Given the description of an element on the screen output the (x, y) to click on. 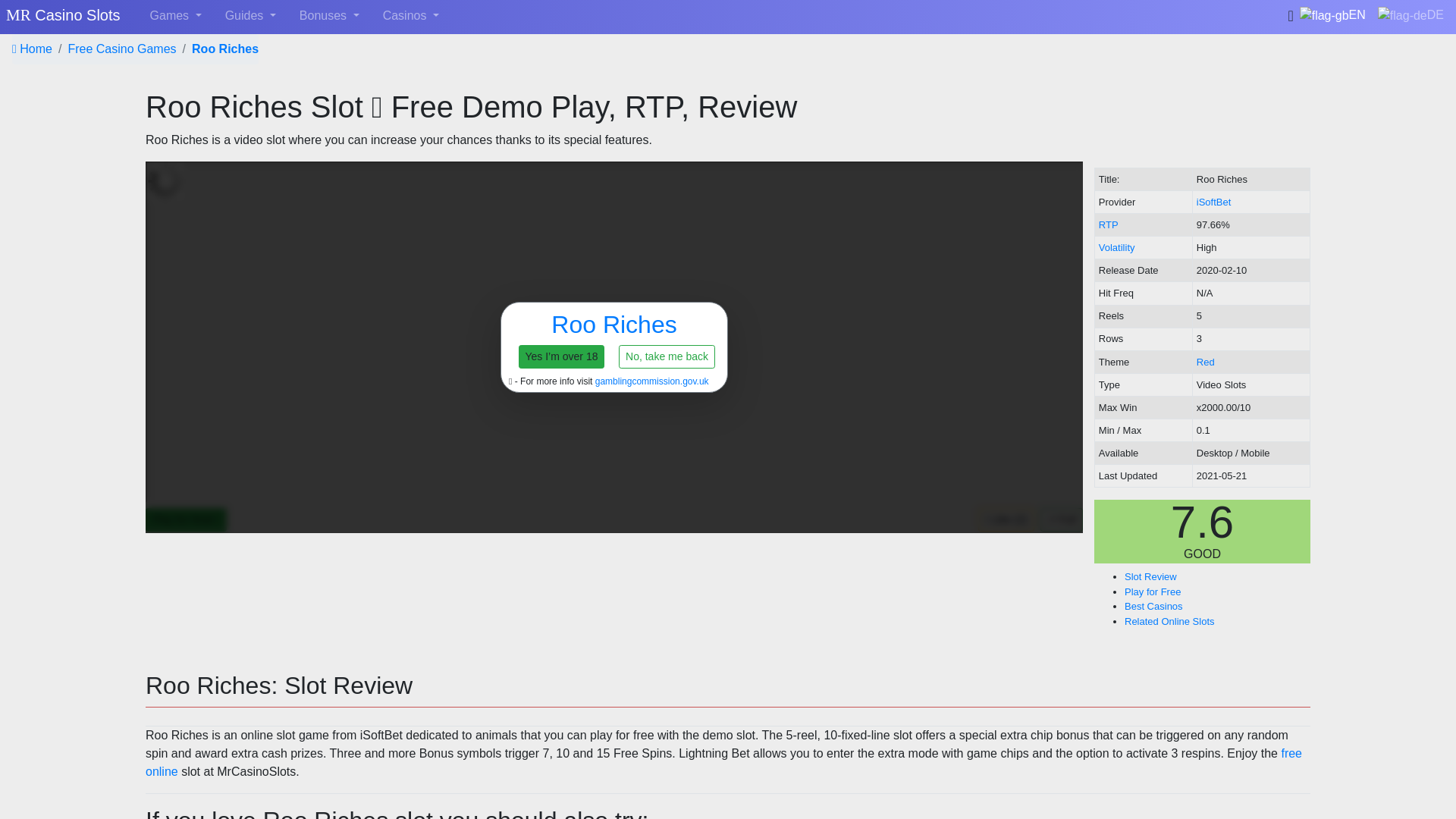
Guides (250, 15)
Roo Riches (225, 48)
Bonuses (329, 15)
Casinos (411, 15)
Free Casino Games (121, 48)
Games (176, 15)
EN (1332, 15)
MR Casino Slots (62, 15)
DE (1410, 15)
